Given the description of an element on the screen output the (x, y) to click on. 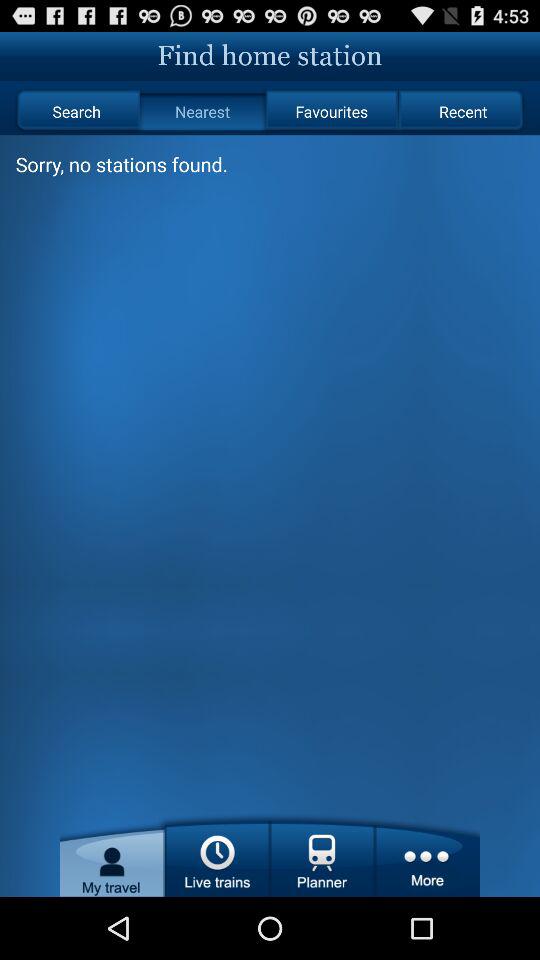
click item next to the favourites icon (202, 111)
